Given the description of an element on the screen output the (x, y) to click on. 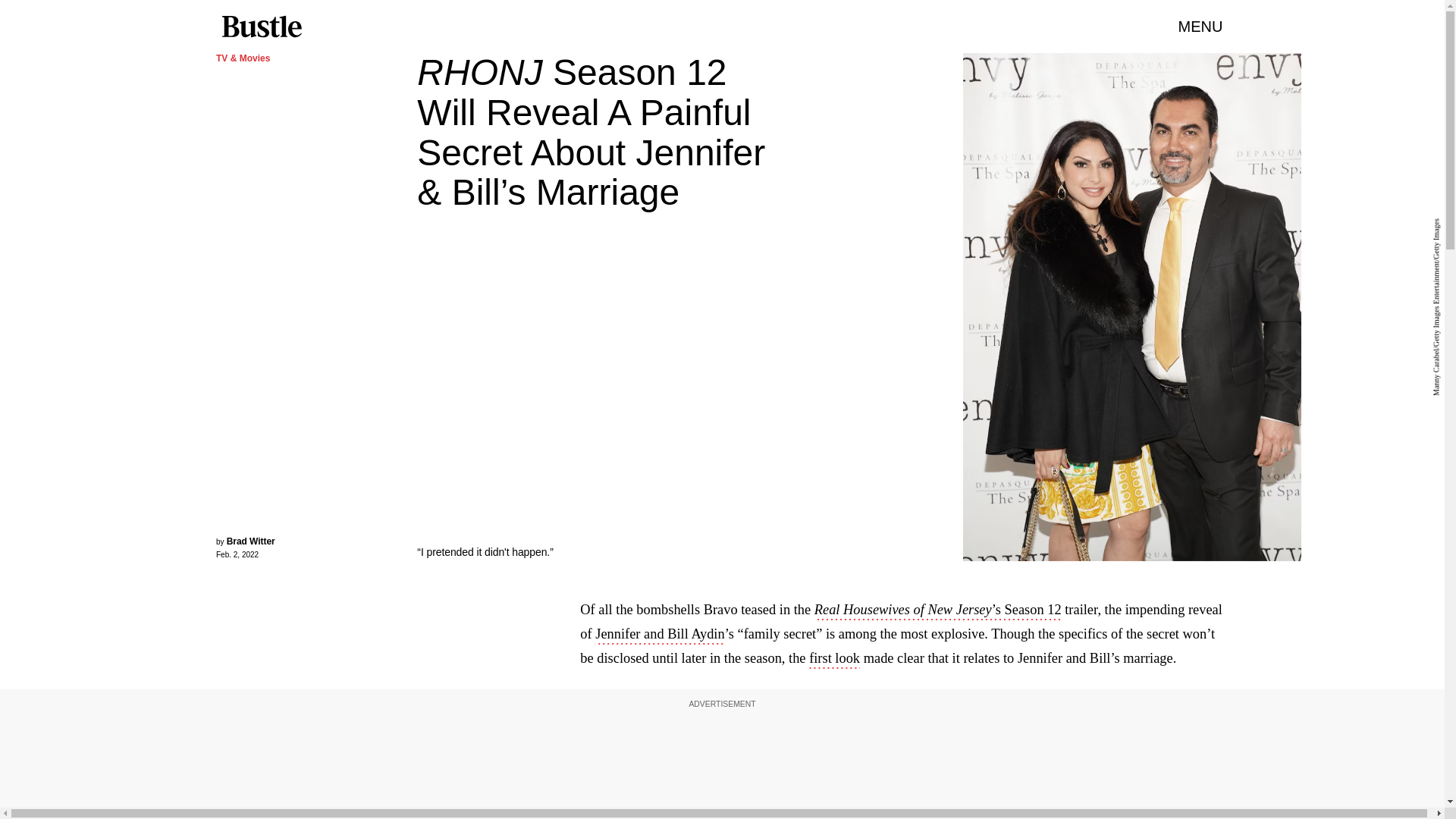
first look (834, 659)
Brad Witter (251, 541)
Jennifer and Bill Aydin (659, 635)
Bustle (261, 26)
